Given the description of an element on the screen output the (x, y) to click on. 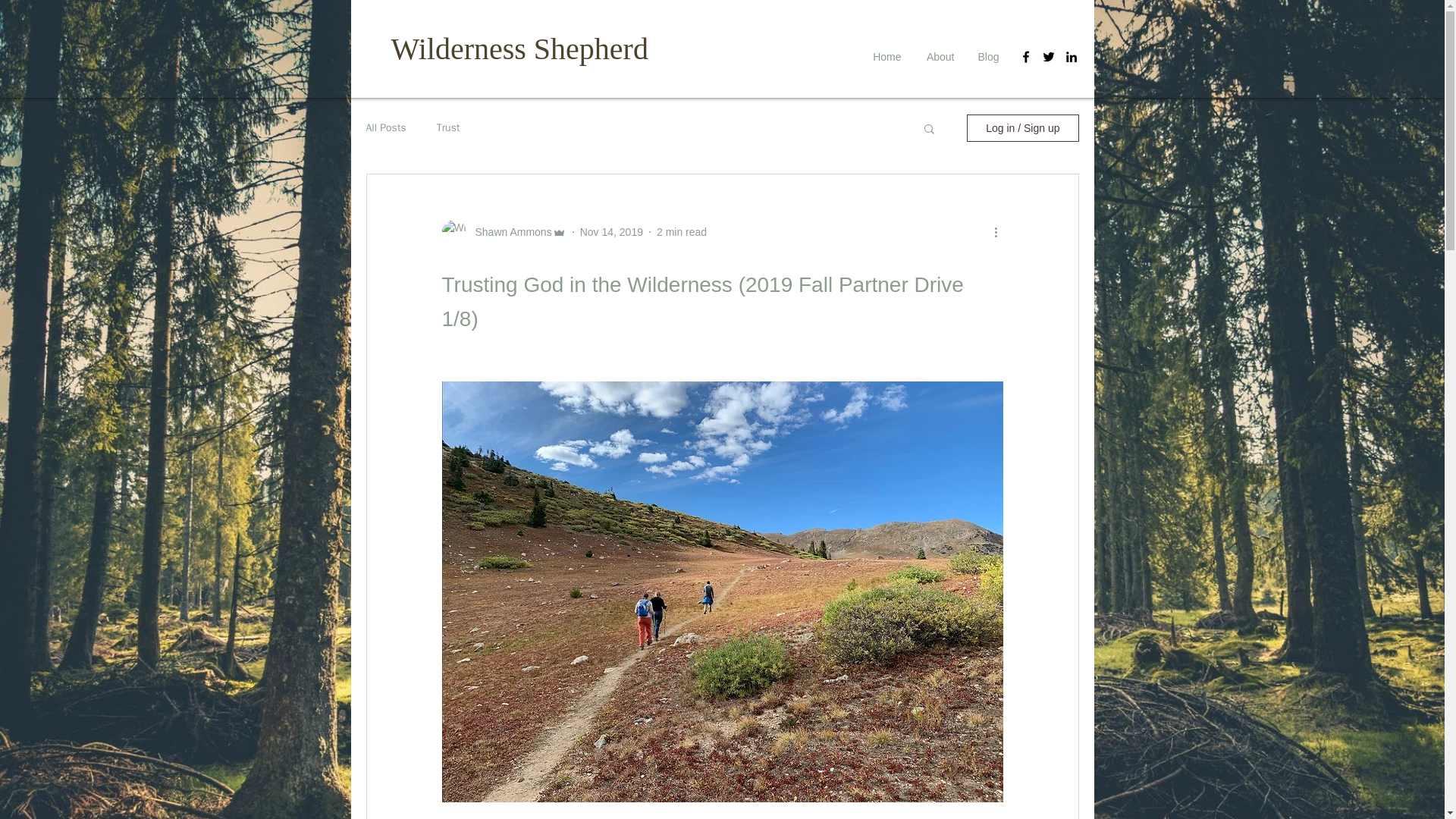
Nov 14, 2019 (611, 232)
All Posts (385, 128)
Home (886, 56)
2 min read (681, 232)
Shawn Ammons (508, 232)
Blog (988, 56)
About (939, 56)
Trust (448, 128)
